Given the description of an element on the screen output the (x, y) to click on. 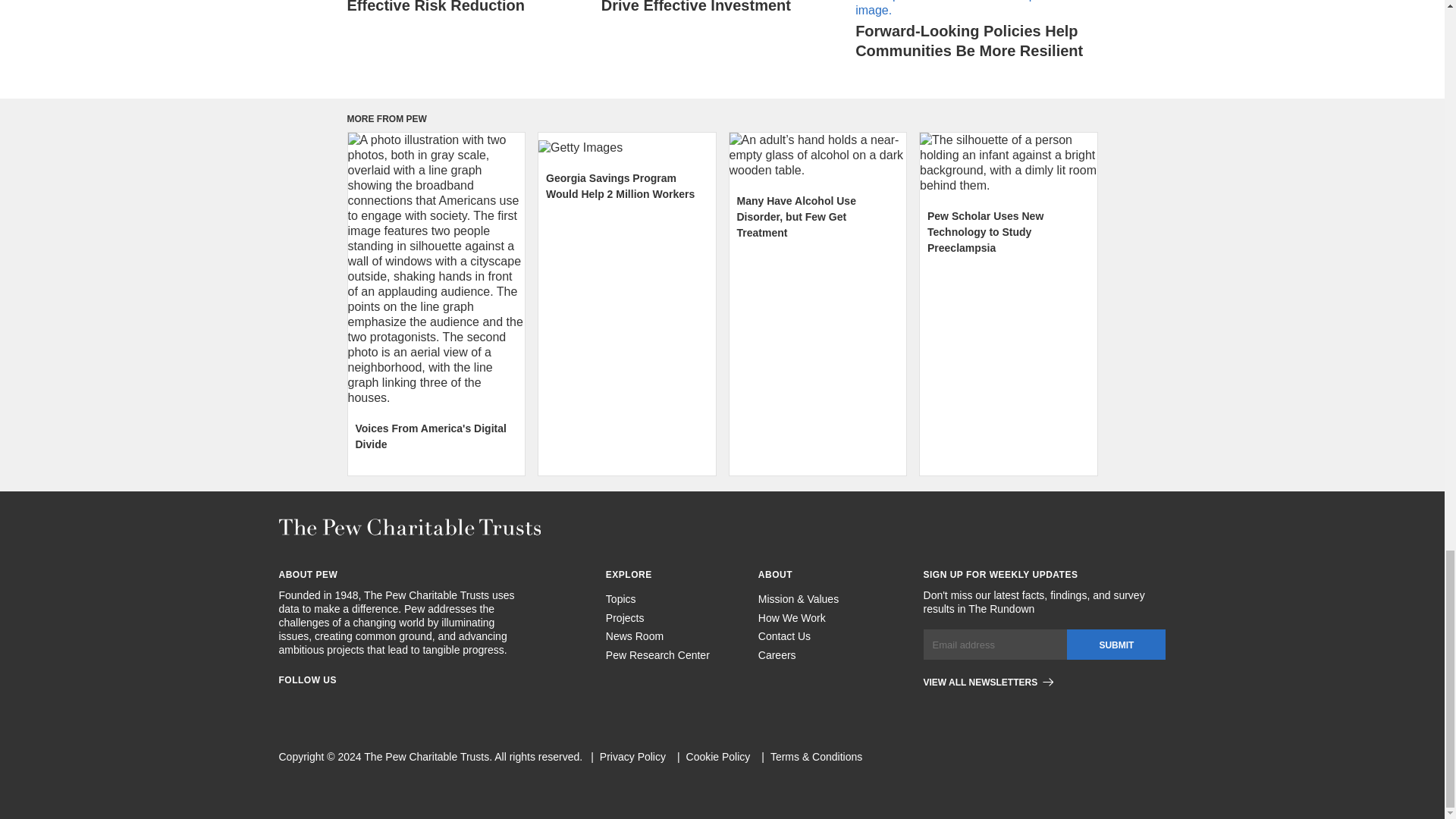
Getty Images (627, 147)
Facebook (285, 703)
Instagram (312, 703)
